Given the description of an element on the screen output the (x, y) to click on. 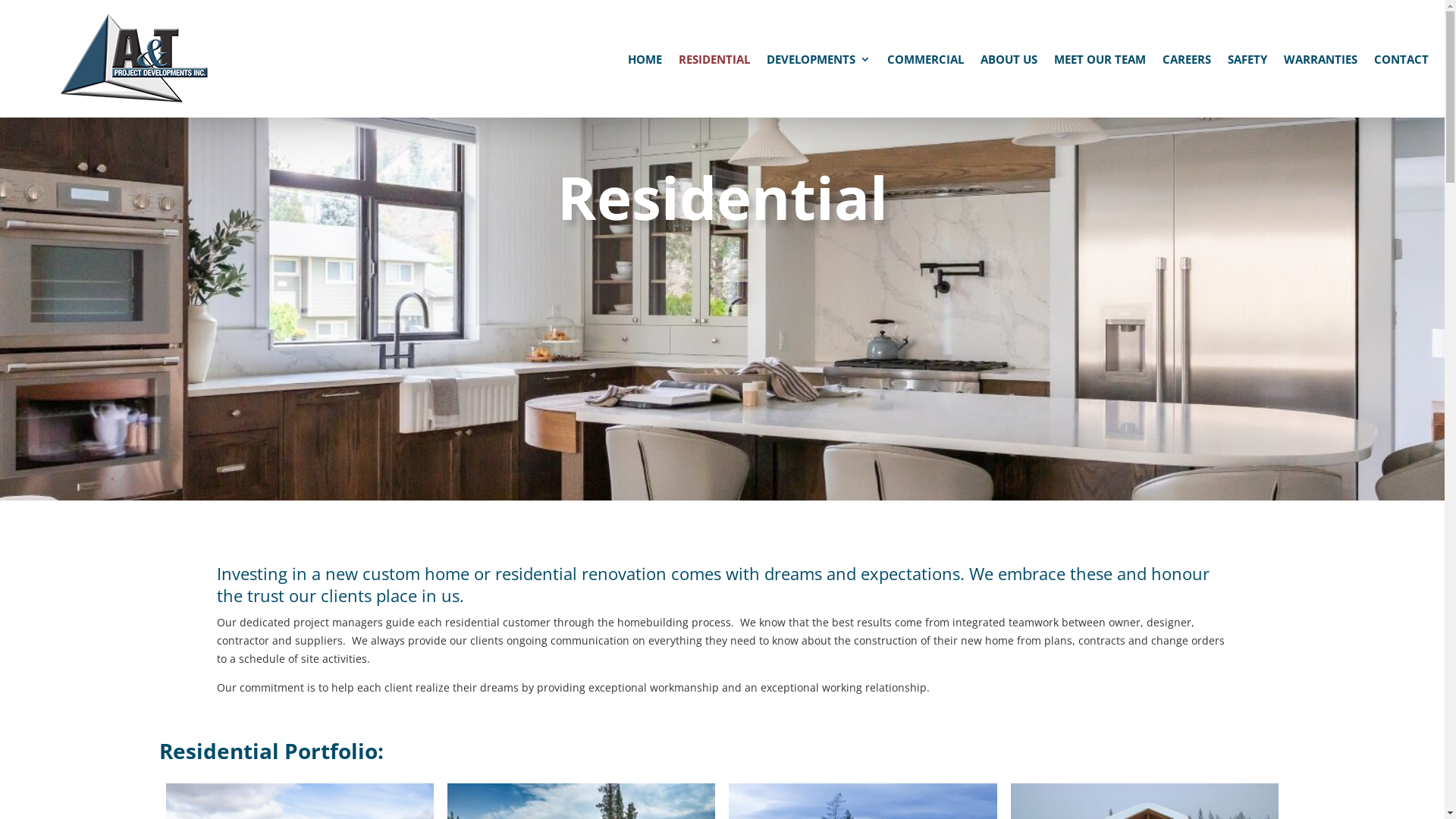
COMMERCIAL Element type: text (925, 61)
CAREERS Element type: text (1185, 61)
ABOUT US Element type: text (1007, 61)
CONTACT Element type: text (1401, 61)
RESIDENTIAL Element type: text (713, 61)
MEET OUR TEAM Element type: text (1099, 61)
SAFETY Element type: text (1246, 61)
A+TLogo_clear small Element type: hover (134, 57)
HOME Element type: text (644, 61)
DEVELOPMENTS Element type: text (817, 61)
WARRANTIES Element type: text (1319, 61)
